Given the description of an element on the screen output the (x, y) to click on. 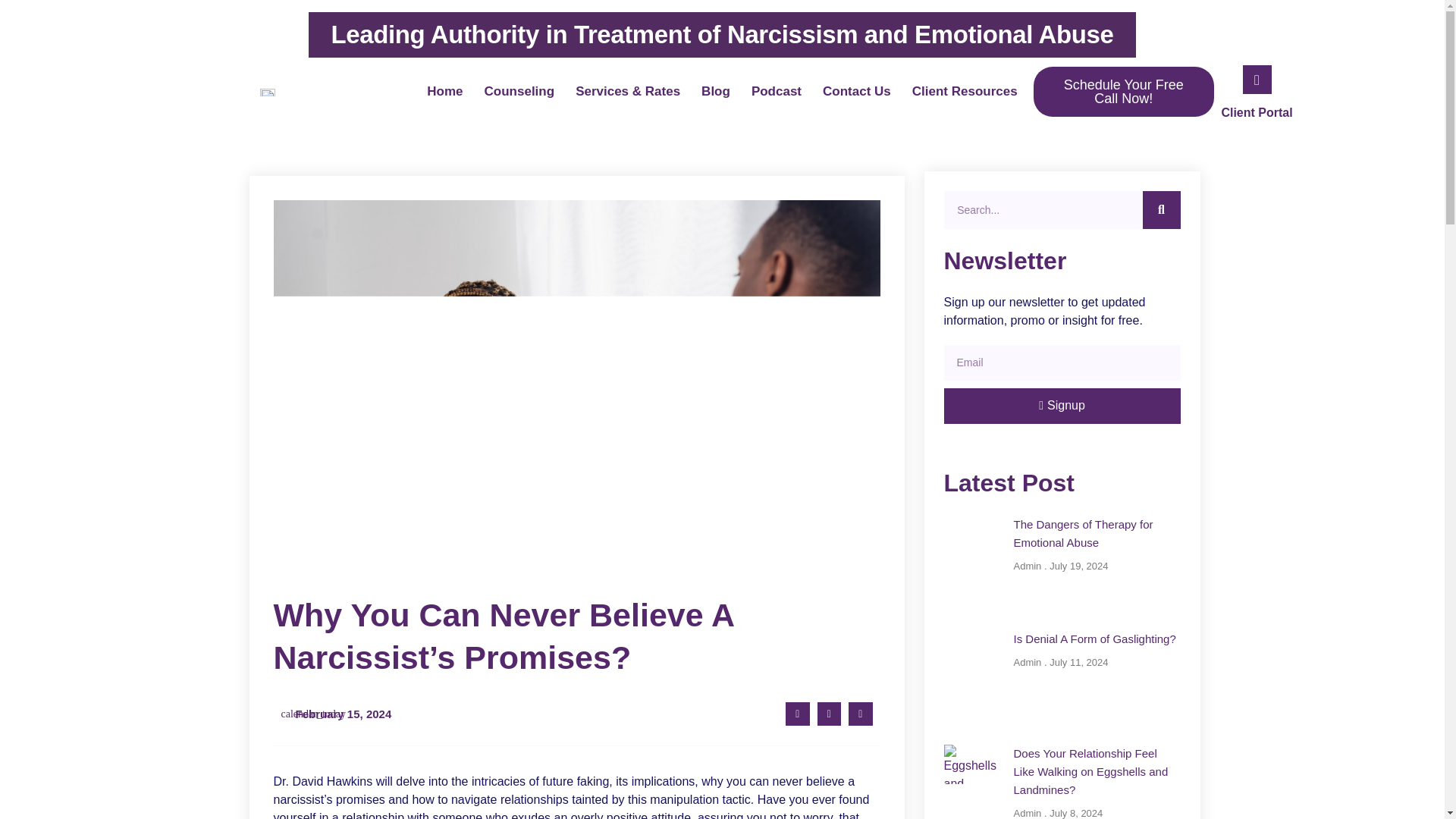
Client Resources (964, 91)
The Dangers of Therapy for Emotional Abuse (1083, 532)
Signup (1061, 406)
Client Portal (1256, 112)
Contact Us (856, 91)
Blog (715, 91)
Is Denial A Form of Gaslighting? (1093, 638)
February 15, 2024 (336, 714)
Home (444, 91)
Schedule Your Free Call Now! (1122, 91)
Podcast (776, 91)
Counseling (519, 91)
